Given the description of an element on the screen output the (x, y) to click on. 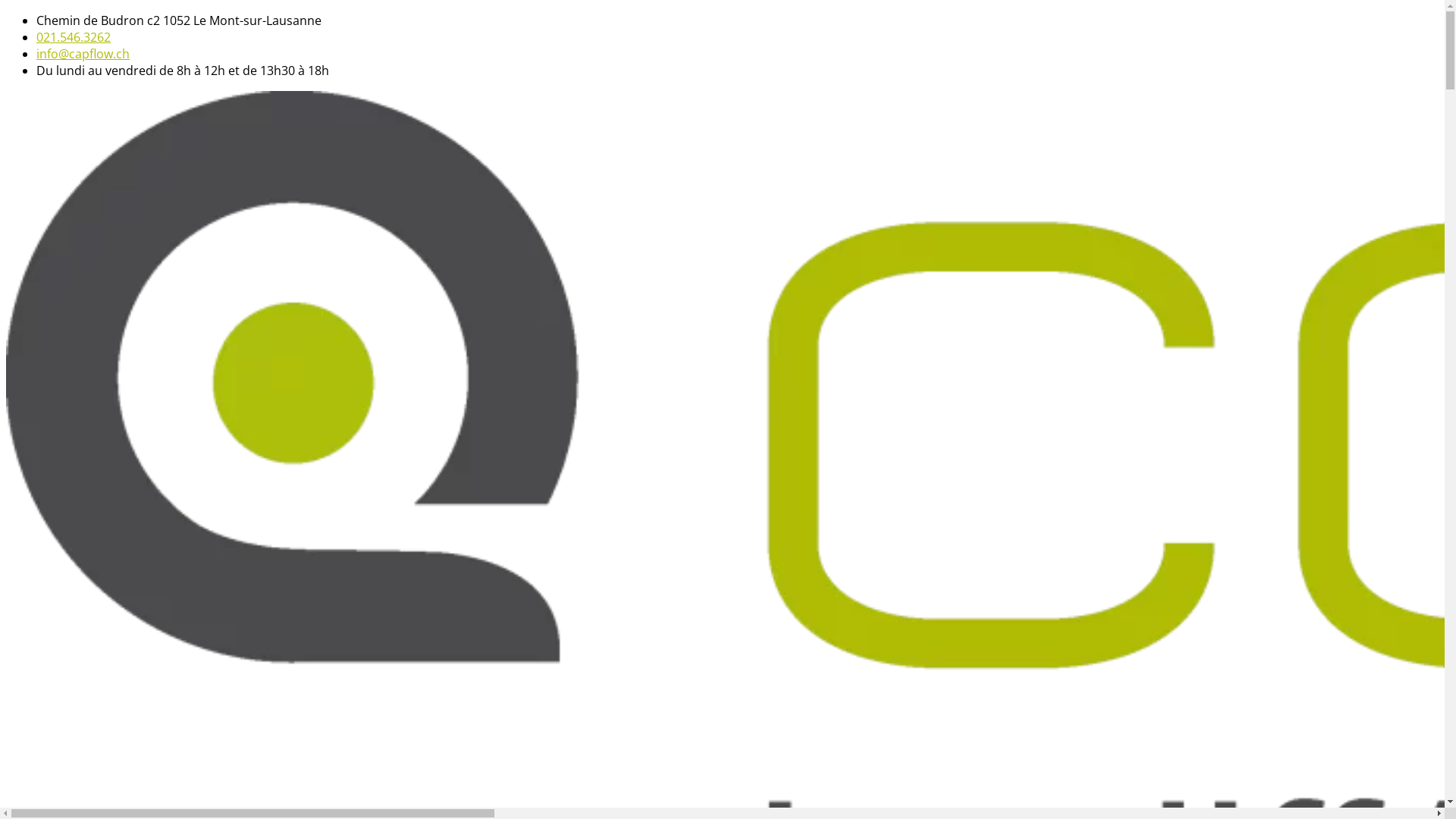
info@capflow.ch Element type: text (82, 53)
021.546.3262 Element type: text (73, 36)
